Given the description of an element on the screen output the (x, y) to click on. 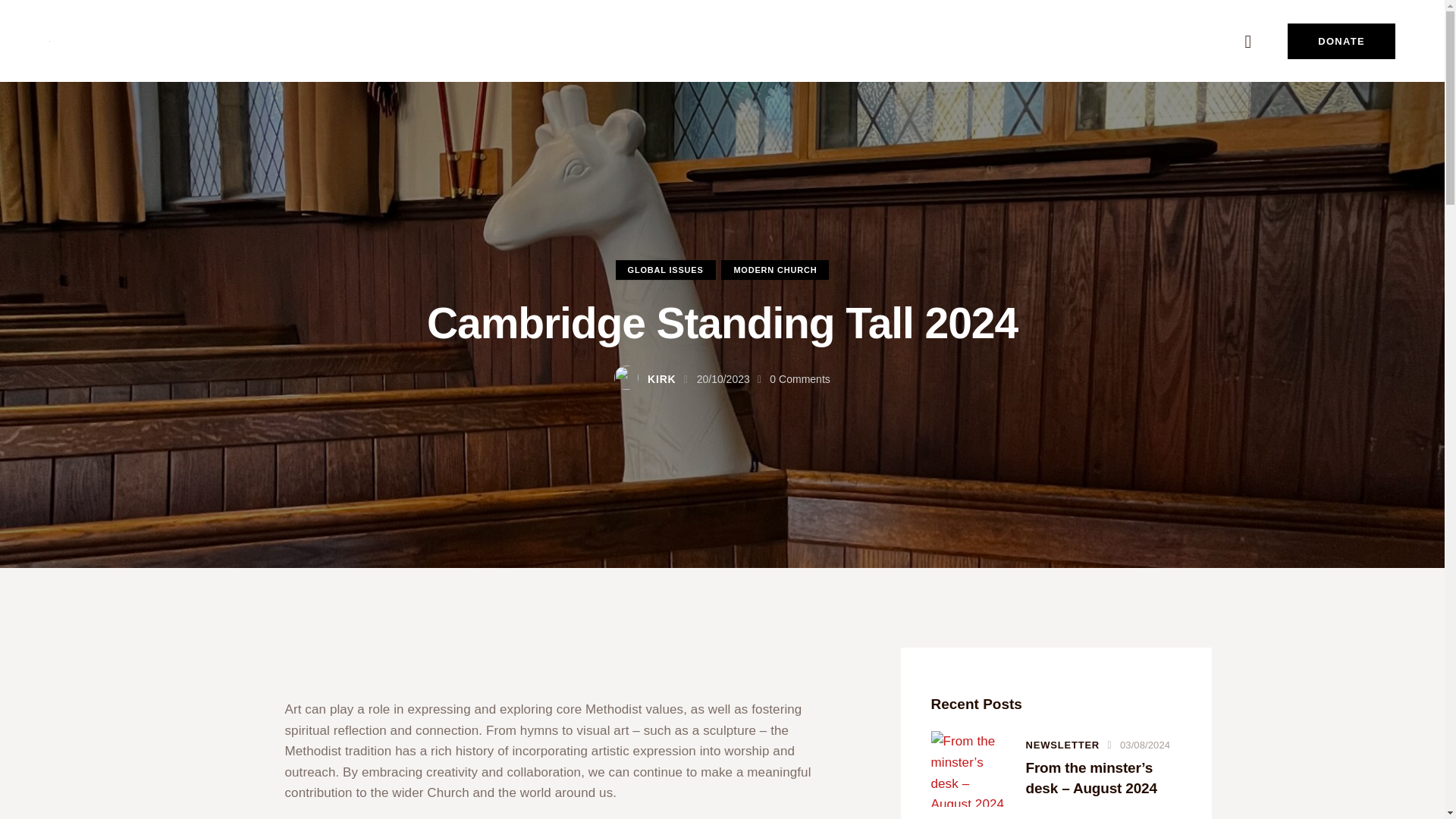
View all posts in Newsletter (1062, 745)
DONATE (1340, 40)
GLOBAL ISSUES (665, 270)
MODERN CHURCH (774, 270)
